Given the description of an element on the screen output the (x, y) to click on. 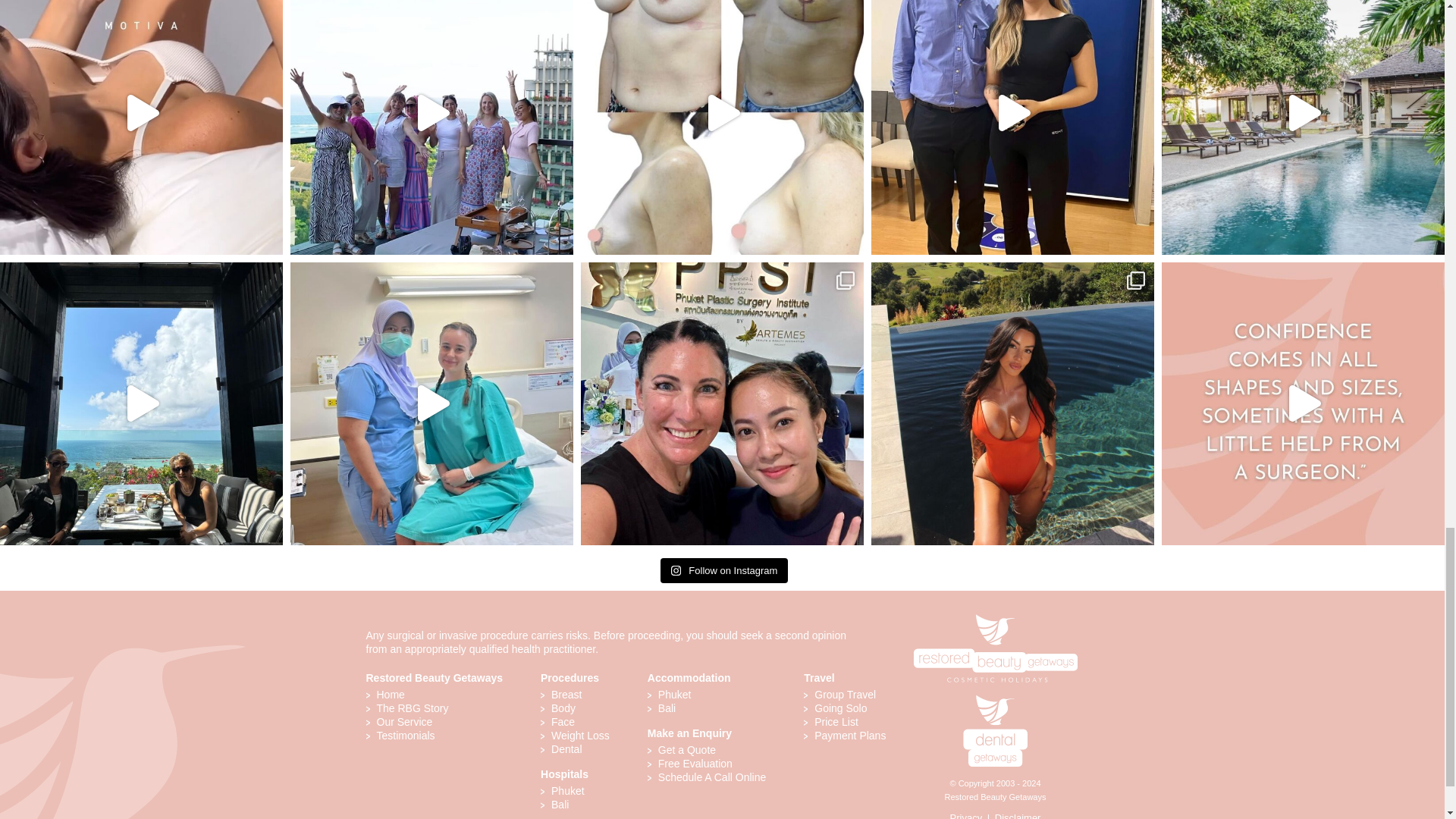
Restored Beauty Getaways (995, 615)
Dental Getaways (994, 699)
